Given the description of an element on the screen output the (x, y) to click on. 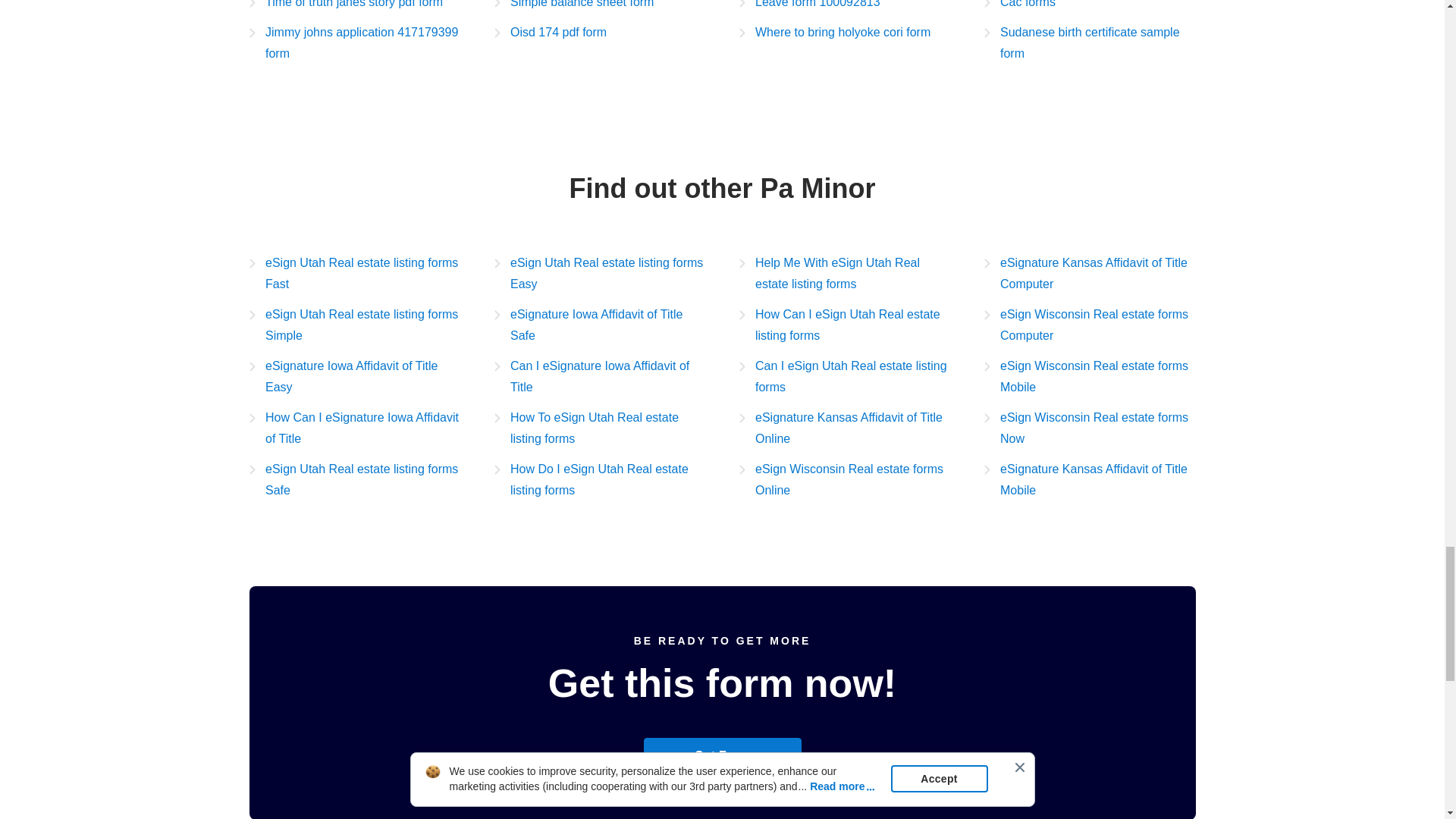
eSign Wisconsin Real estate forms Now (1089, 428)
Simple balance sheet form (574, 6)
eSignature Kansas Affidavit of Title Computer (1089, 273)
Oisd 174 pdf form (551, 32)
Cac forms (1019, 6)
How Can I eSignature Iowa Affidavit of Title (354, 428)
eSign Utah Real estate listing forms Easy (600, 273)
eSign Wisconsin Real estate forms Mobile (1089, 376)
eSign Utah Real estate listing forms Fast (354, 273)
eSign Utah Real estate listing forms Safe (354, 479)
How To eSign Utah Real estate listing forms (600, 428)
eSignature Iowa Affidavit of Title Safe (600, 324)
eSign Wisconsin Real estate forms Online (844, 479)
eSignature Iowa Affidavit of Title Easy (354, 376)
eSign Wisconsin Real estate forms Computer (1089, 324)
